Given the description of an element on the screen output the (x, y) to click on. 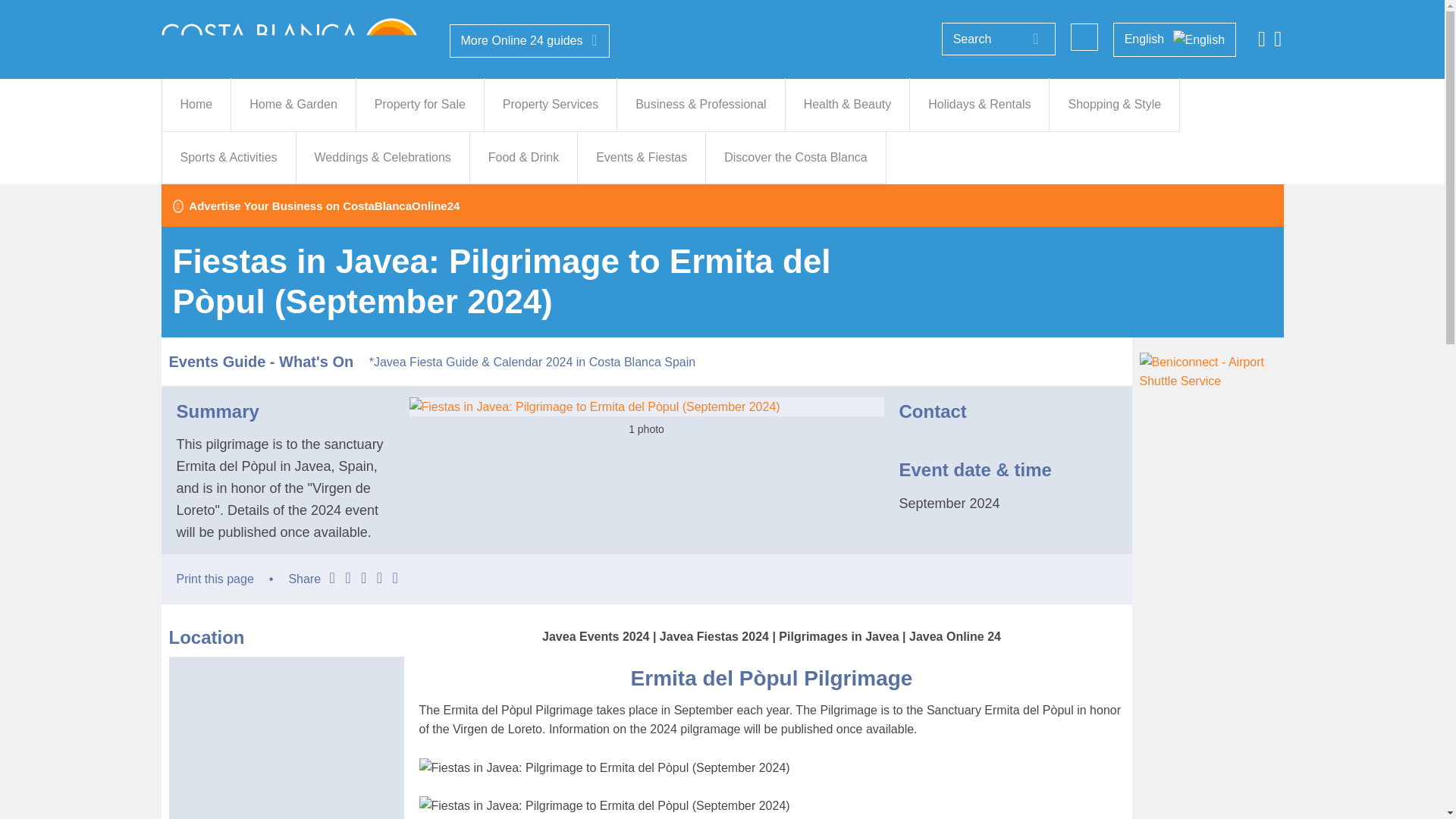
Costa Blanca 24 (289, 43)
More Online 24 guides (529, 40)
English (1174, 39)
